Given the description of an element on the screen output the (x, y) to click on. 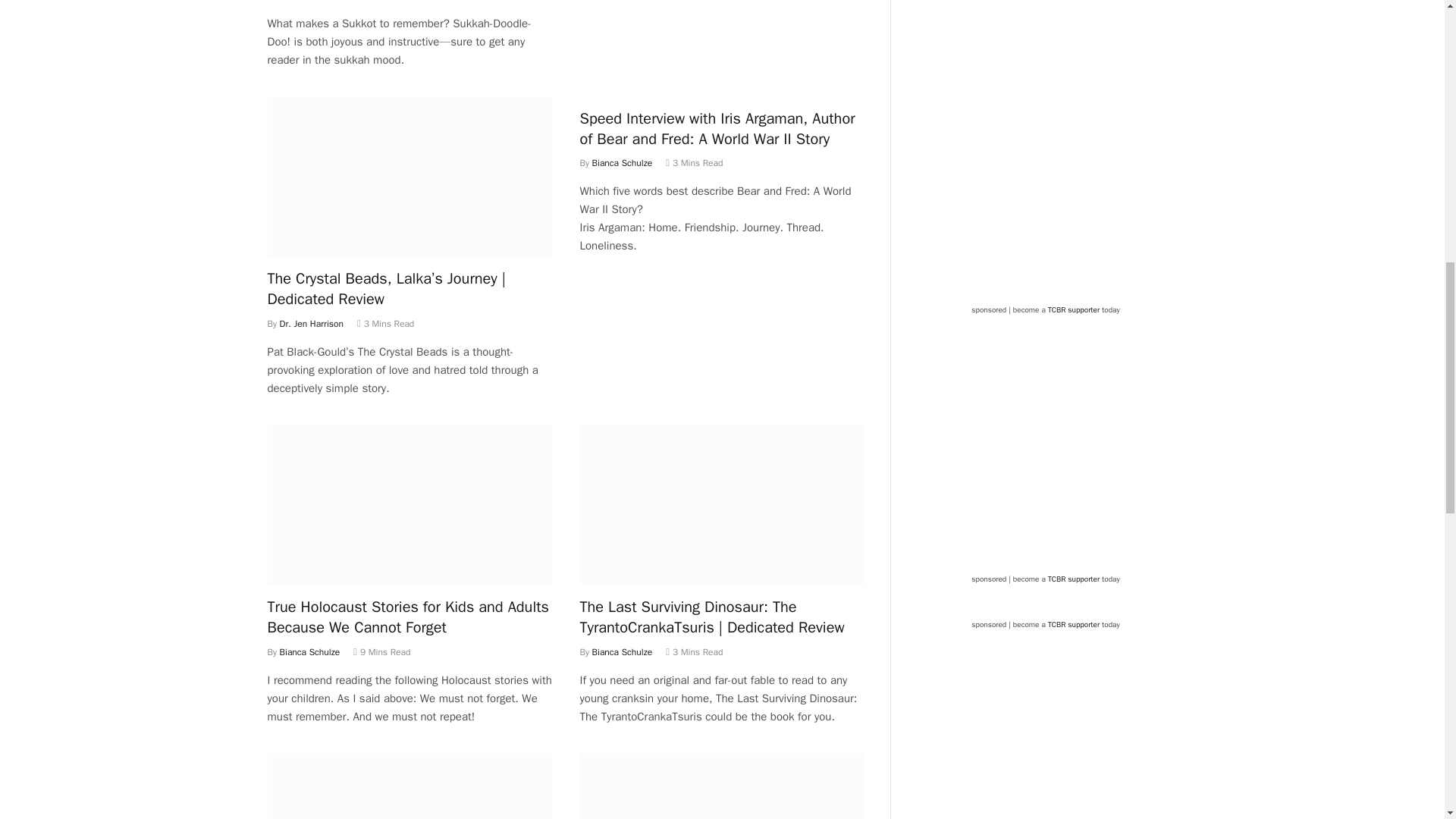
Posts by Dr. Jen Harrison (311, 323)
Posts by Bianca Schulze (622, 162)
Posts by Dr. Jen Harrison (311, 0)
